Given the description of an element on the screen output the (x, y) to click on. 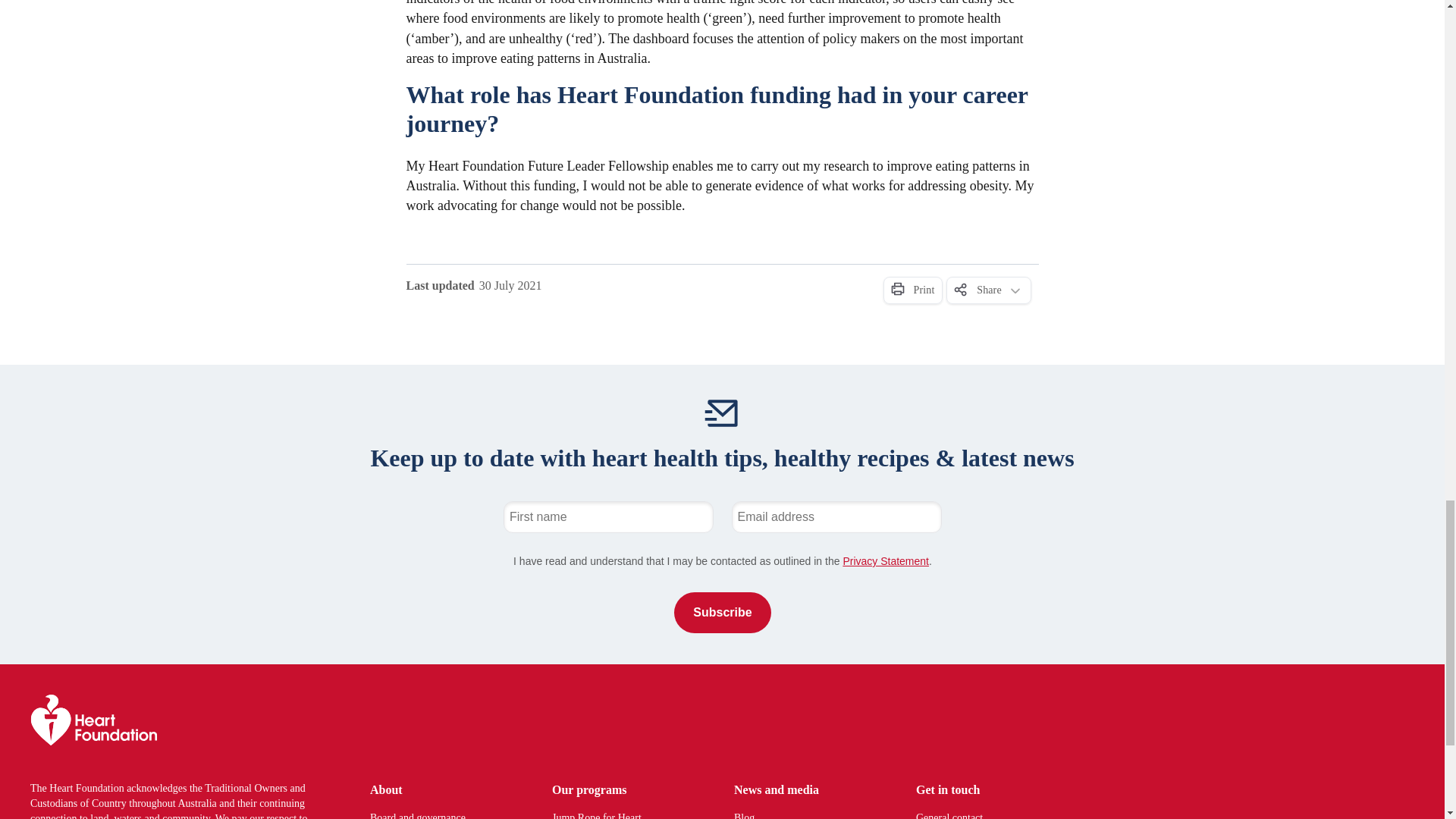
Print (912, 289)
Newsletter Signup (722, 566)
Board and governance (442, 814)
About (442, 789)
Share (988, 289)
